Given the description of an element on the screen output the (x, y) to click on. 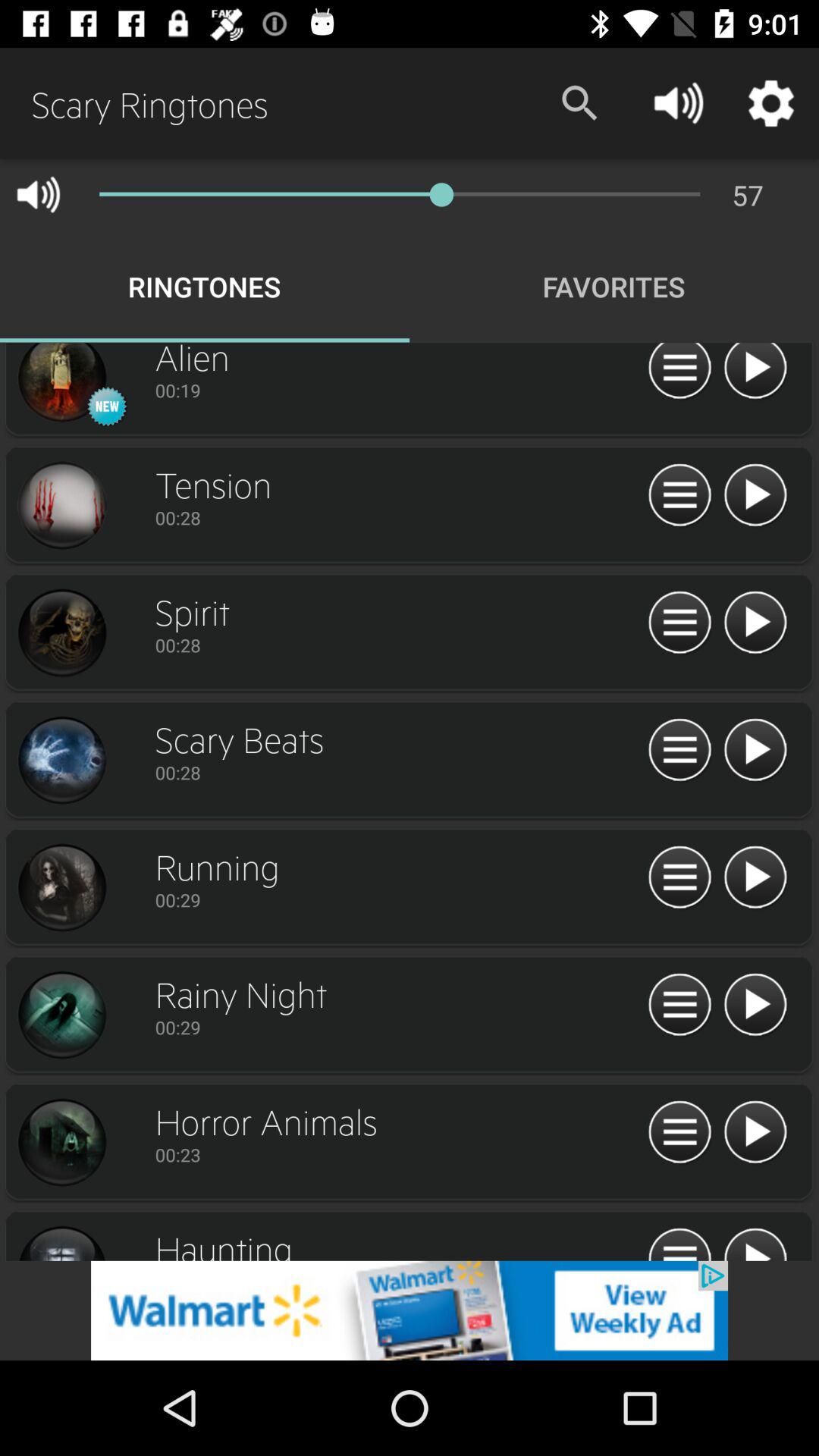
to play particular (755, 750)
